Given the description of an element on the screen output the (x, y) to click on. 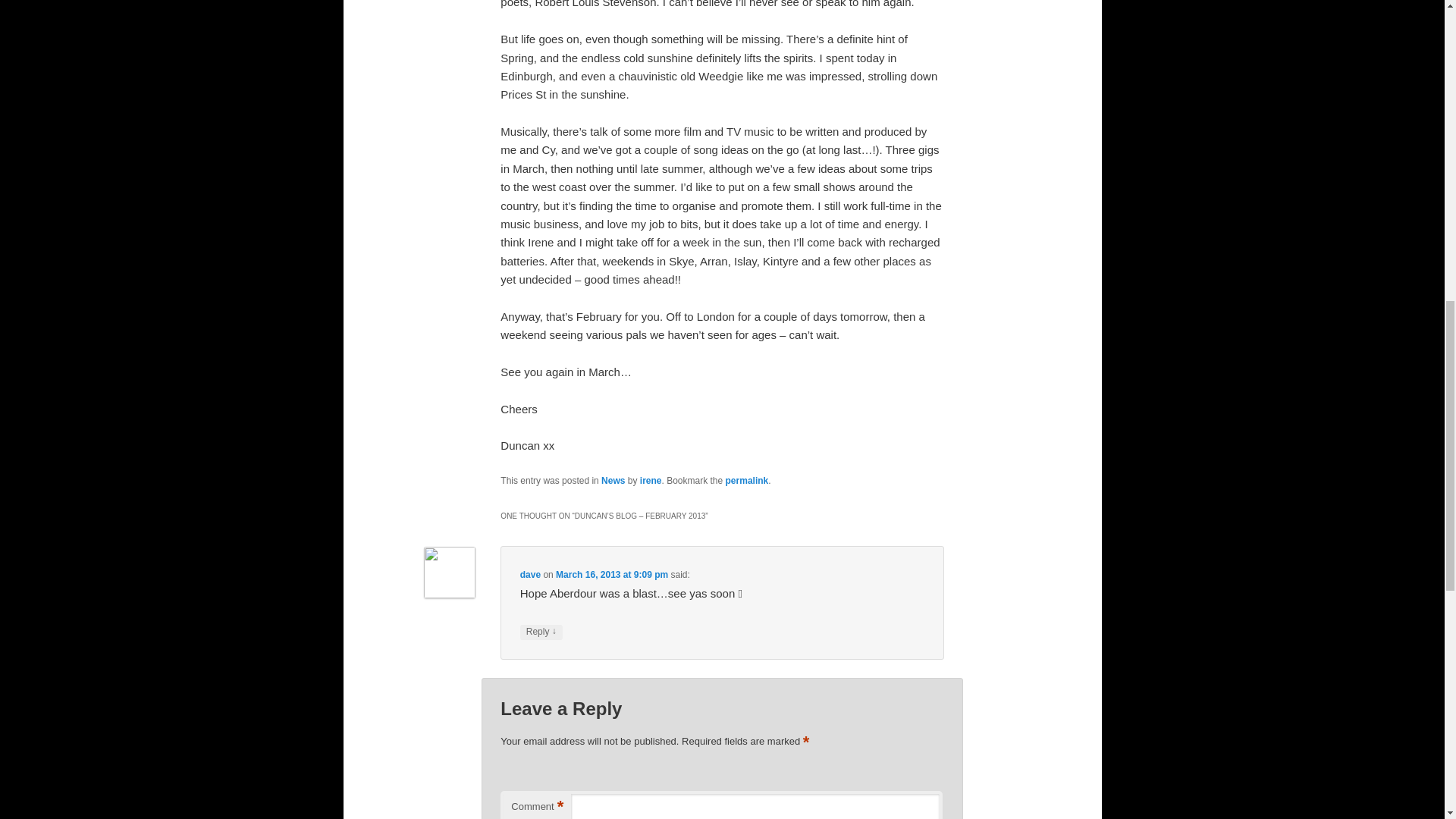
March 16, 2013 at 9:09 pm (612, 574)
dave (529, 574)
permalink (746, 480)
News (612, 480)
irene (651, 480)
